Given the description of an element on the screen output the (x, y) to click on. 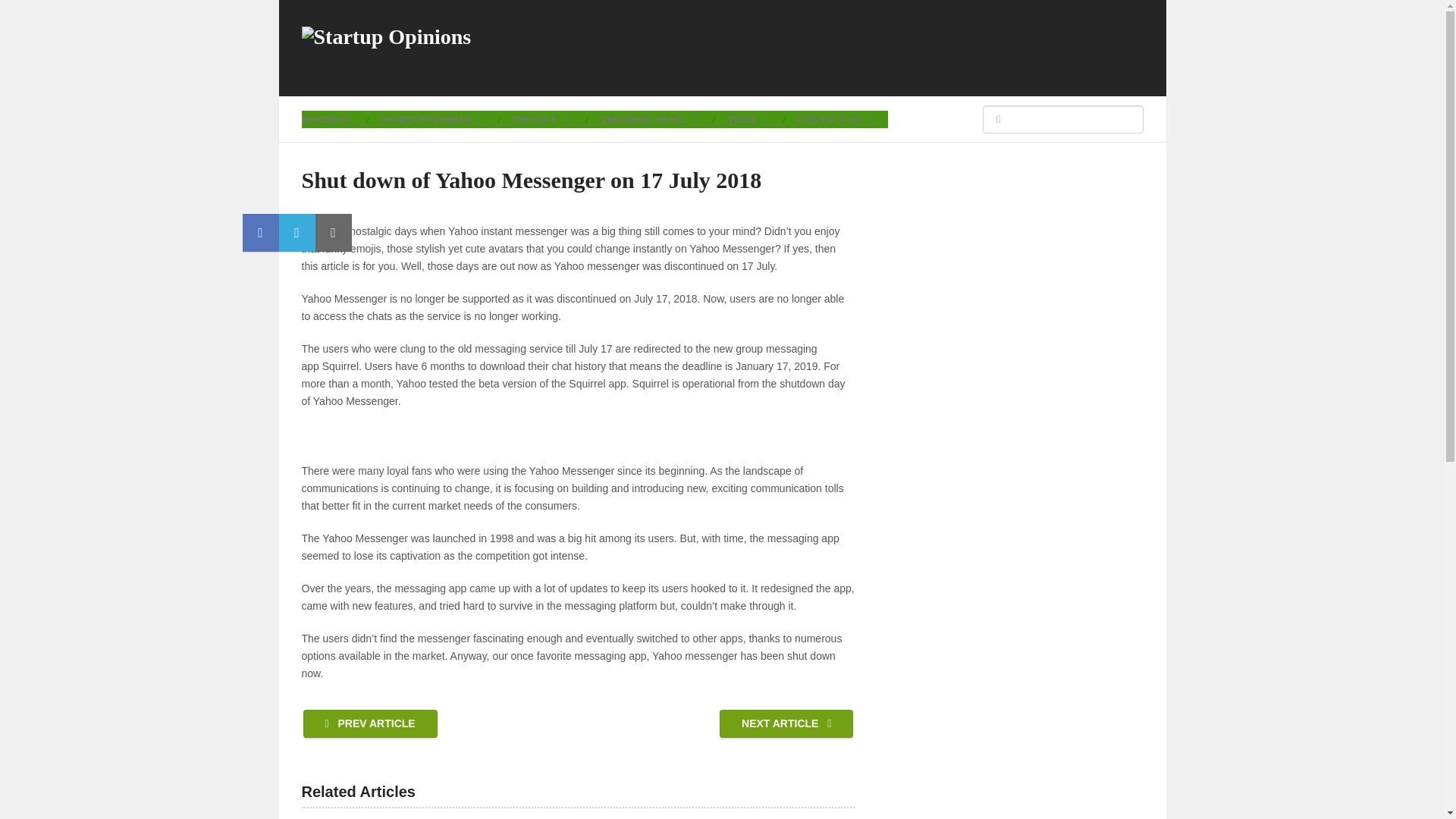
TECH (746, 118)
CONTACT US (834, 118)
STARTUP STORIES (430, 118)
FINANCE (539, 118)
TRENDING NEWS (648, 118)
PREV ARTICLE (370, 723)
BUSINESS (333, 118)
NEXT ARTICLE (786, 723)
